Given the description of an element on the screen output the (x, y) to click on. 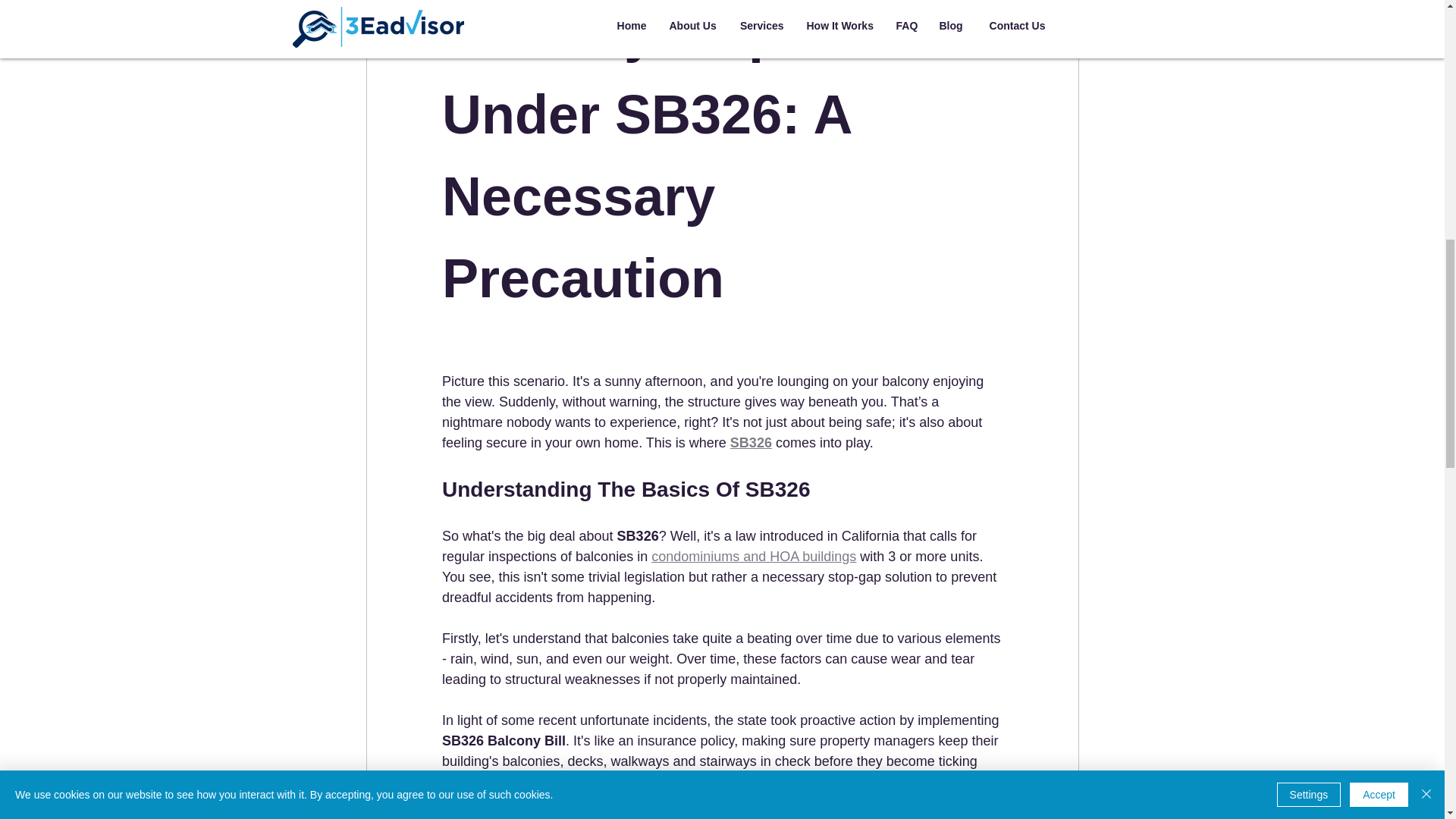
SB326 (750, 442)
condominiums and HOA buildings (753, 556)
